Given the description of an element on the screen output the (x, y) to click on. 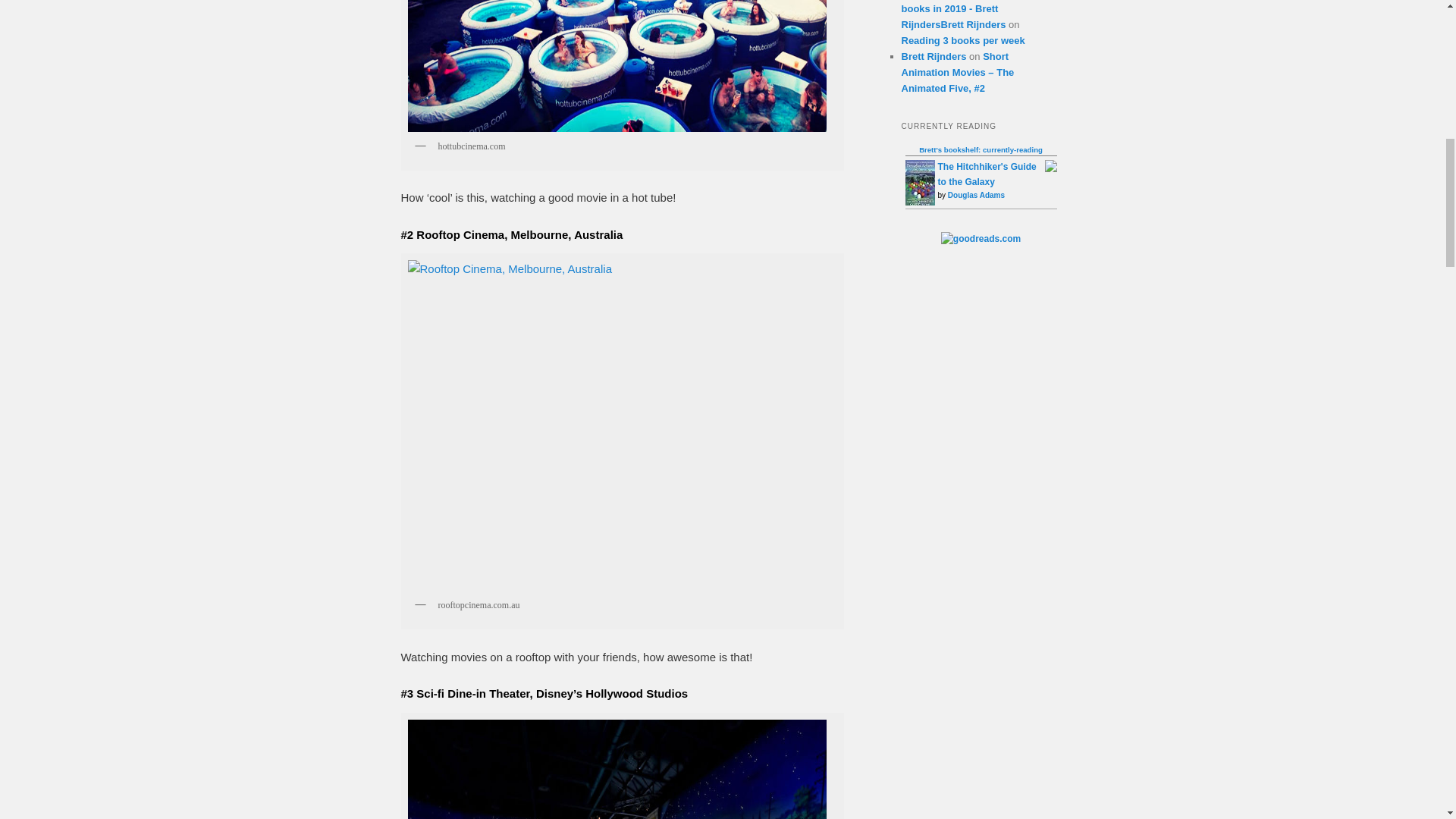
Hot Tube Cinema, London (617, 65)
Reading 3 books per week (963, 40)
